Given the description of an element on the screen output the (x, y) to click on. 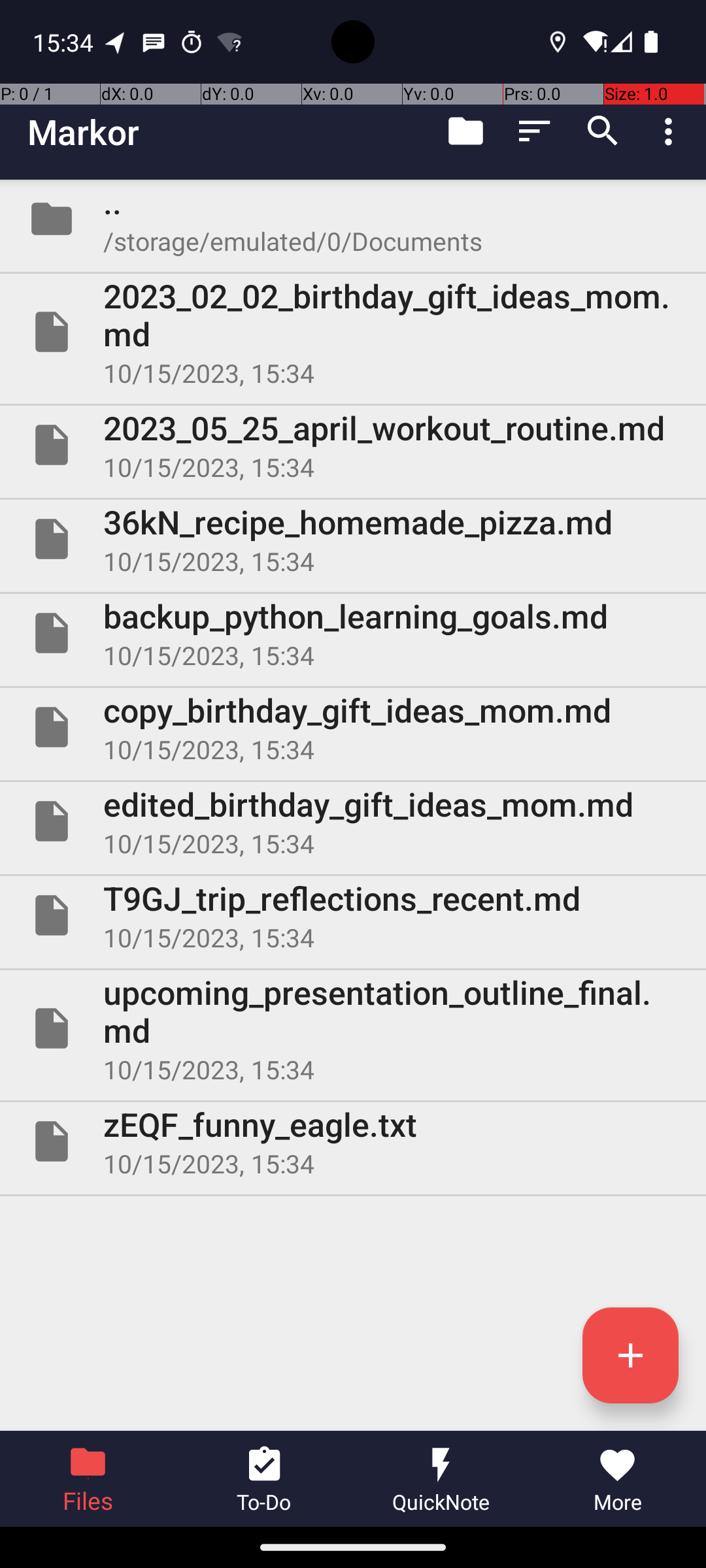
File 2023_02_02_birthday_gift_ideas_mom.md 10/15/2023, 15:34 Element type: android.widget.LinearLayout (353, 331)
File 2023_05_25_april_workout_routine.md  Element type: android.widget.LinearLayout (353, 444)
File 36kN_recipe_homemade_pizza.md 10/15/2023, 15:34 Element type: android.widget.LinearLayout (353, 538)
File backup_python_learning_goals.md  Element type: android.widget.LinearLayout (353, 632)
File copy_birthday_gift_ideas_mom.md  Element type: android.widget.LinearLayout (353, 726)
File edited_birthday_gift_ideas_mom.md  Element type: android.widget.LinearLayout (353, 821)
File T9GJ_trip_reflections_recent.md  Element type: android.widget.LinearLayout (353, 915)
File upcoming_presentation_outline_final.md  Element type: android.widget.LinearLayout (353, 1028)
File zEQF_funny_eagle.txt  Element type: android.widget.LinearLayout (353, 1141)
